Given the description of an element on the screen output the (x, y) to click on. 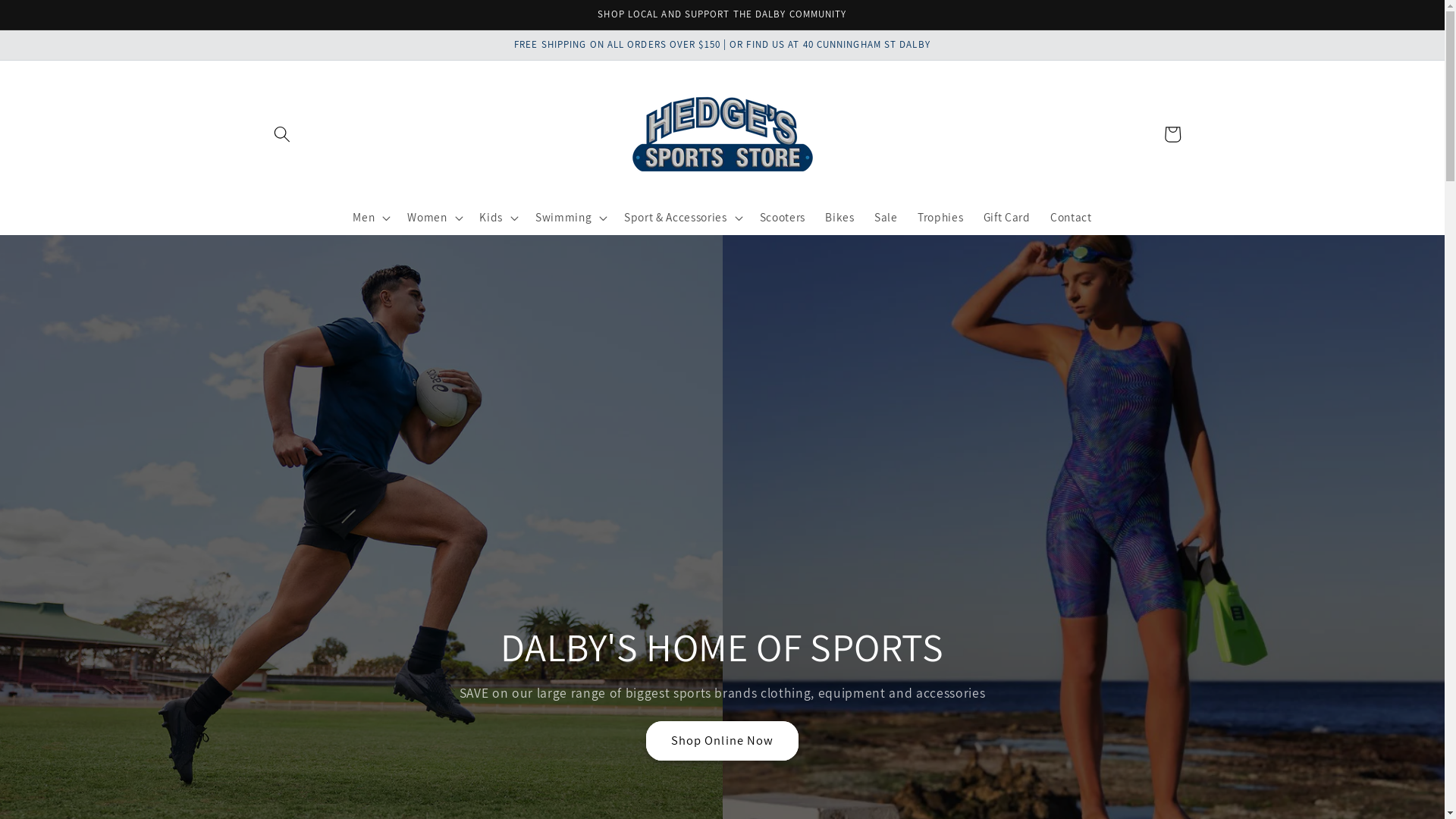
Shop Online Now Element type: text (722, 740)
Gift Card Element type: text (1005, 217)
Scooters Element type: text (782, 217)
Sale Element type: text (885, 217)
Cart Element type: text (1172, 134)
Trophies Element type: text (940, 217)
Bikes Element type: text (839, 217)
Contact Element type: text (1070, 217)
